Given the description of an element on the screen output the (x, y) to click on. 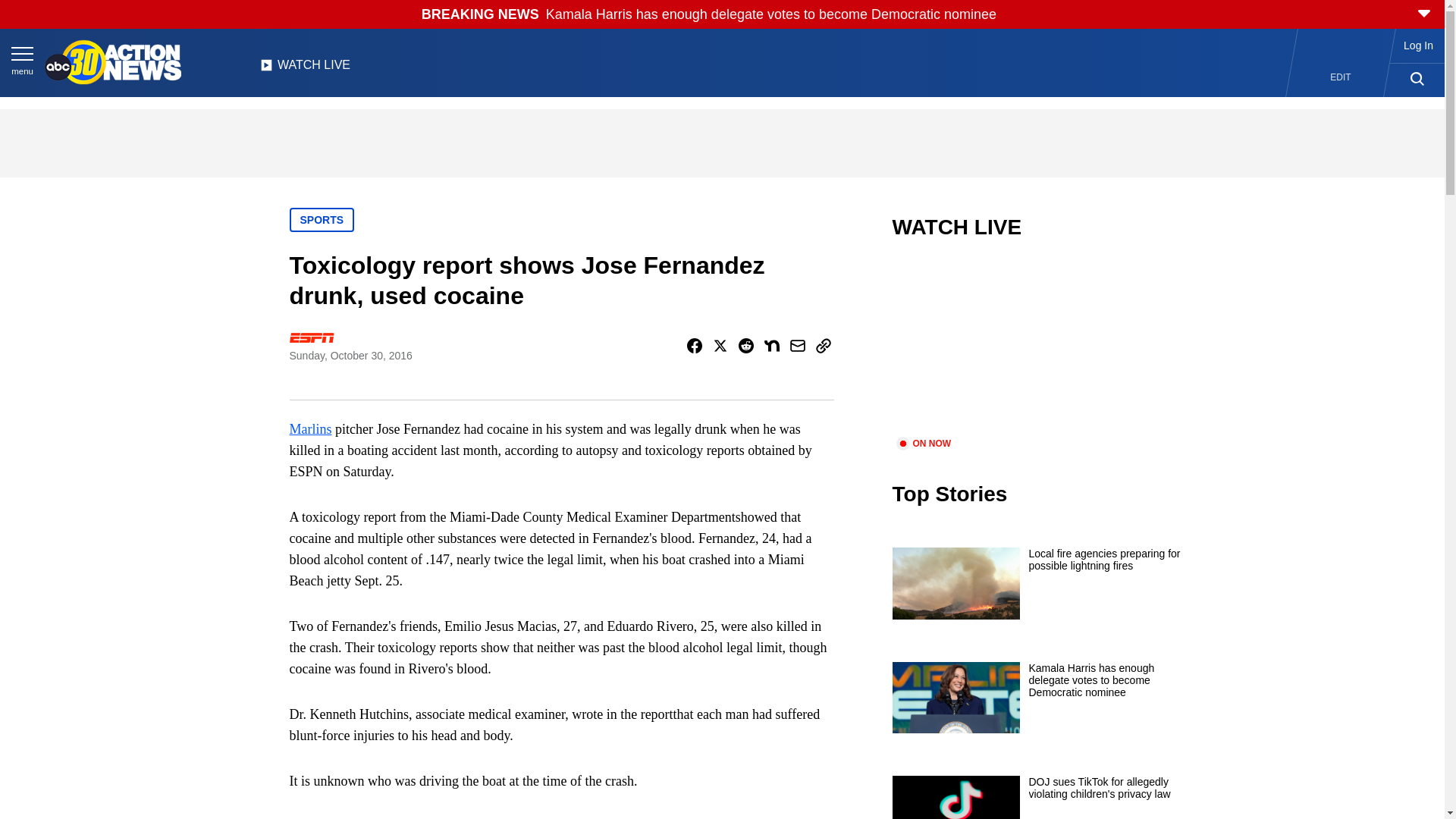
EDIT (1340, 77)
video.title (1043, 347)
WATCH LIVE (305, 69)
